Given the description of an element on the screen output the (x, y) to click on. 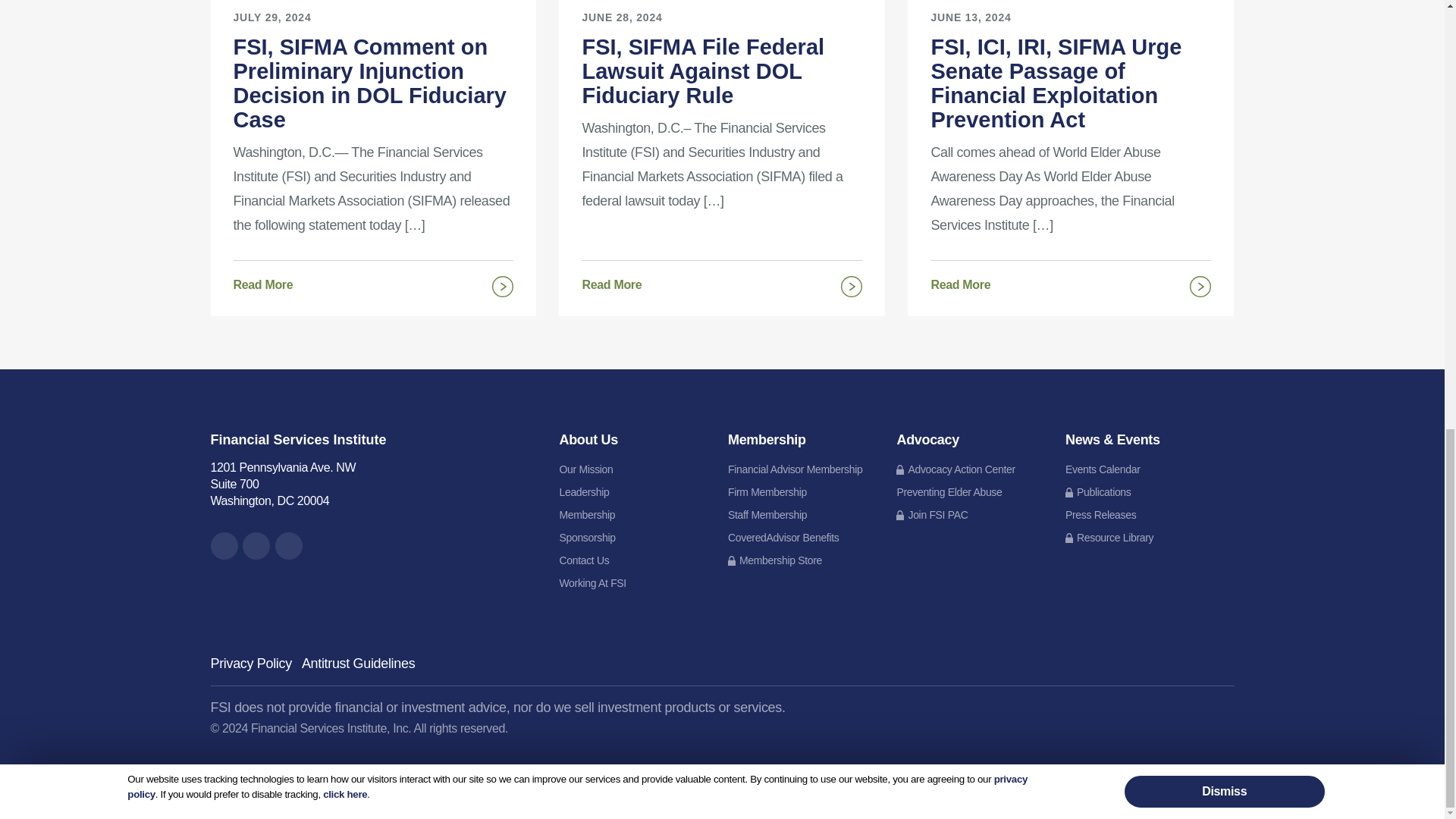
Read Article (1070, 282)
Read Article (1070, 134)
Read Article (720, 128)
Read Article (720, 282)
Read Article (372, 134)
Read Article (372, 282)
